Given the description of an element on the screen output the (x, y) to click on. 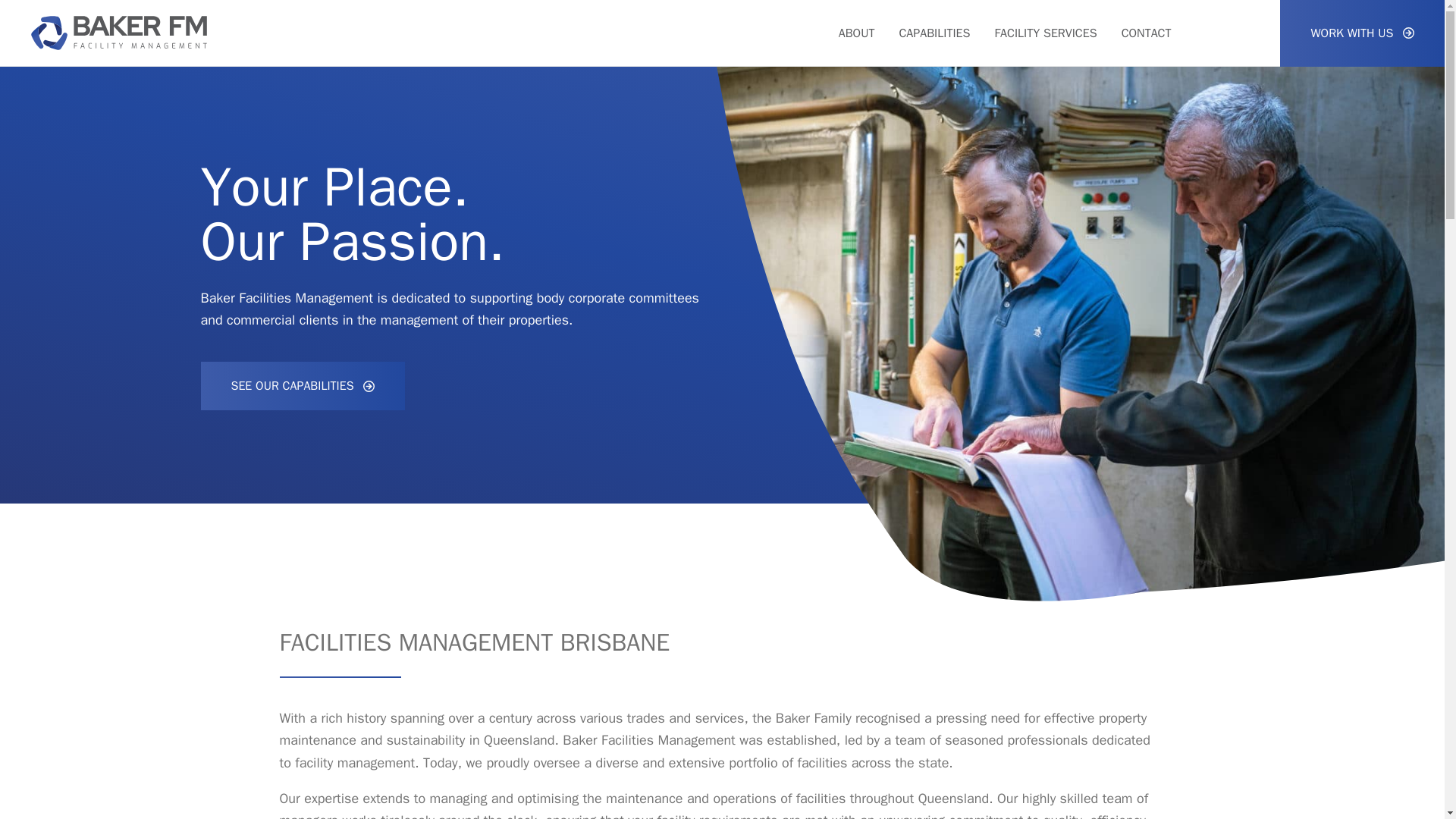
SEE OUR CAPABILITIES (302, 413)
FACILITY SERVICES (1045, 32)
ABOUT (856, 32)
WORK WITH US (1361, 33)
CONTACT (1146, 32)
CAPABILITIES (933, 32)
